Given the description of an element on the screen output the (x, y) to click on. 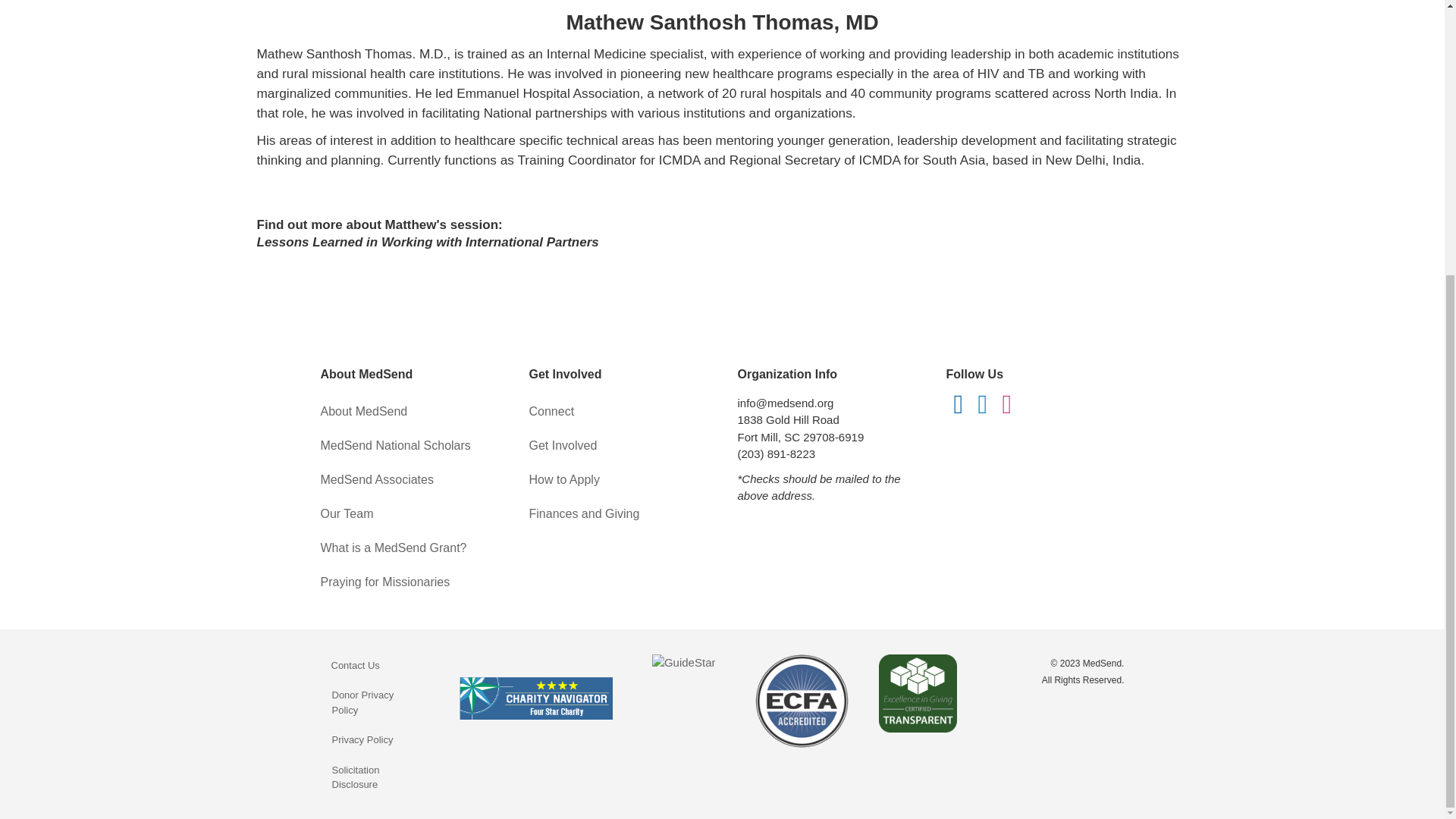
What is a MedSend Grant? (408, 548)
About MedSend (408, 411)
About MedSend (408, 411)
MedSend Associates (408, 479)
Praying for Missionaries (408, 581)
Get Involved (618, 445)
MedSend National Scholars (408, 445)
Connect (618, 411)
EIG Certified Transparent Logo3 (917, 693)
